Given the description of an element on the screen output the (x, y) to click on. 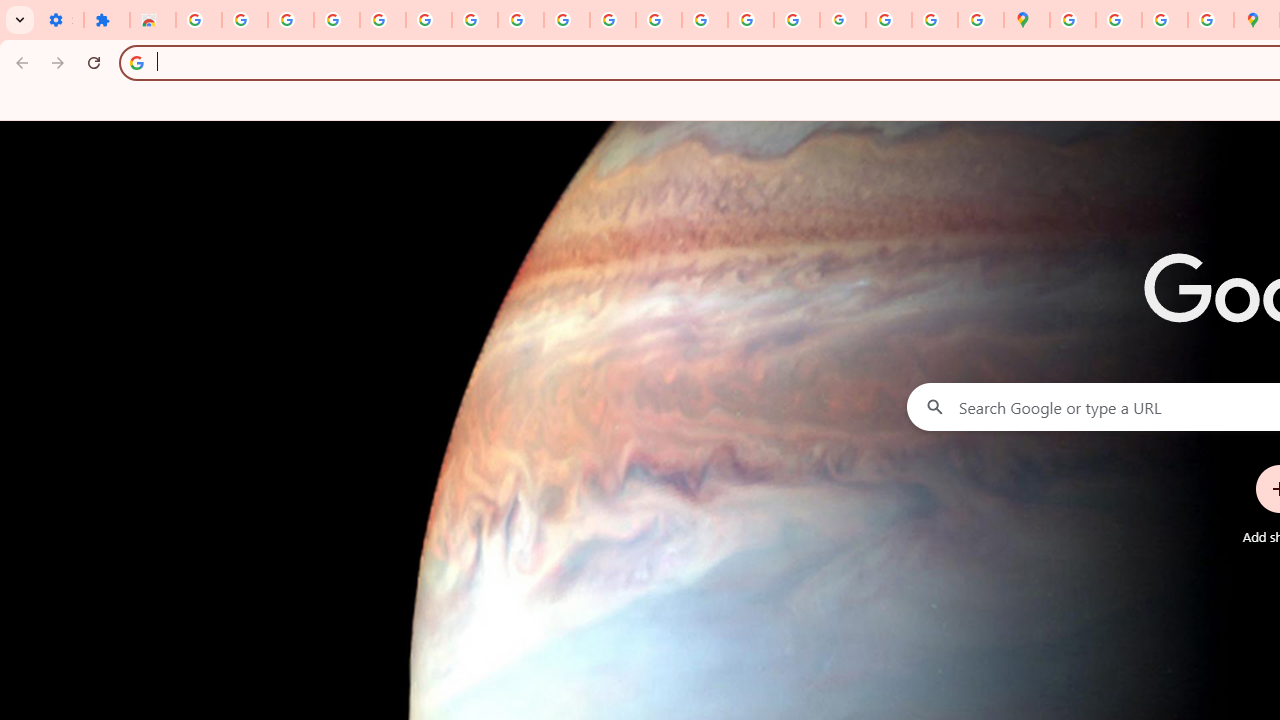
Delete photos & videos - Computer - Google Photos Help (290, 20)
https://scholar.google.com/ (659, 20)
Google Maps (1026, 20)
